Given the description of an element on the screen output the (x, y) to click on. 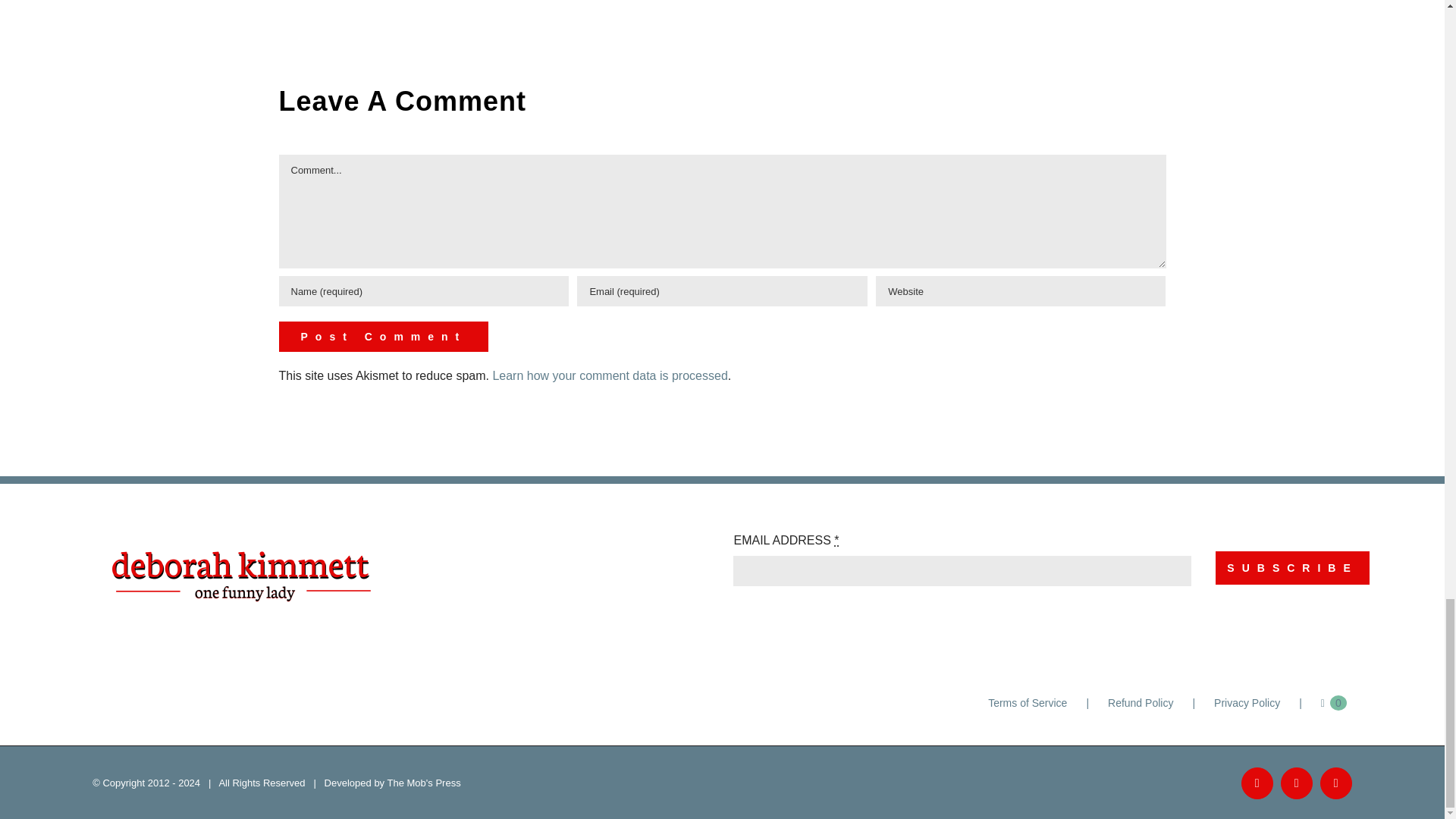
Facebook (1256, 783)
required (836, 540)
Post Comment (384, 336)
Instagram (1297, 783)
Twitter (1336, 783)
